Given the description of an element on the screen output the (x, y) to click on. 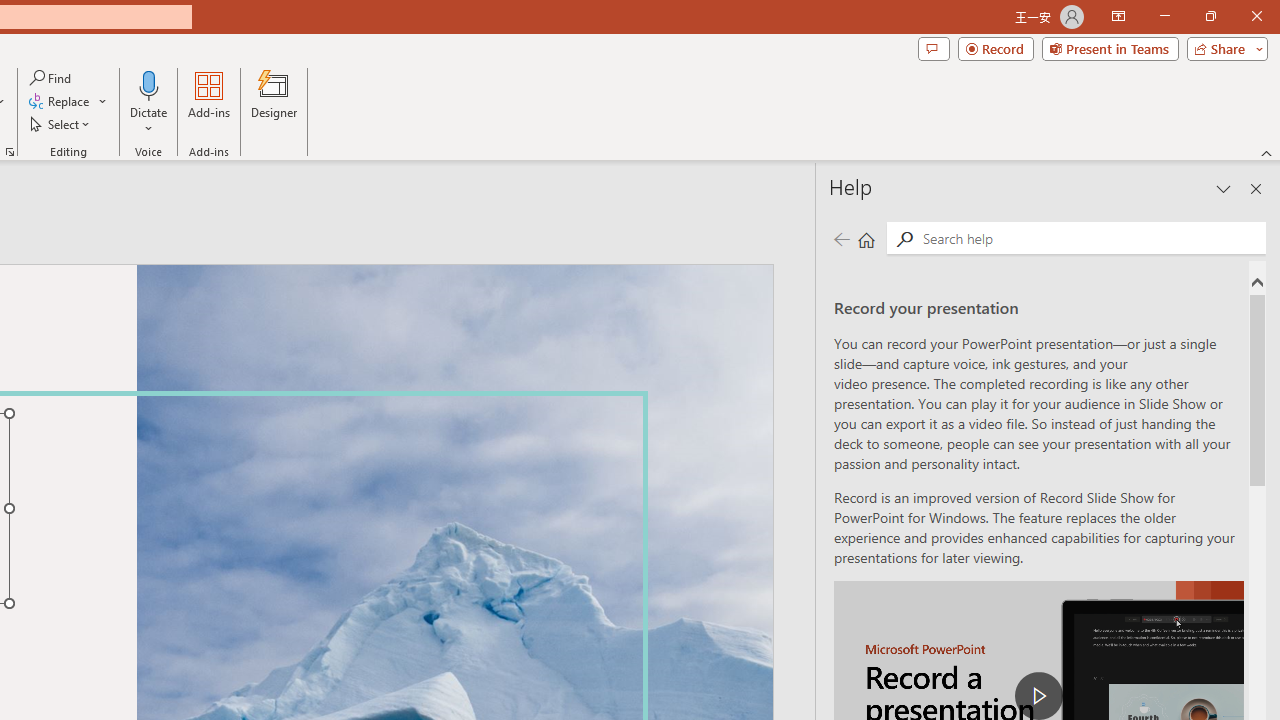
Previous page (841, 238)
play Record a Presentation (1038, 695)
